Given the description of an element on the screen output the (x, y) to click on. 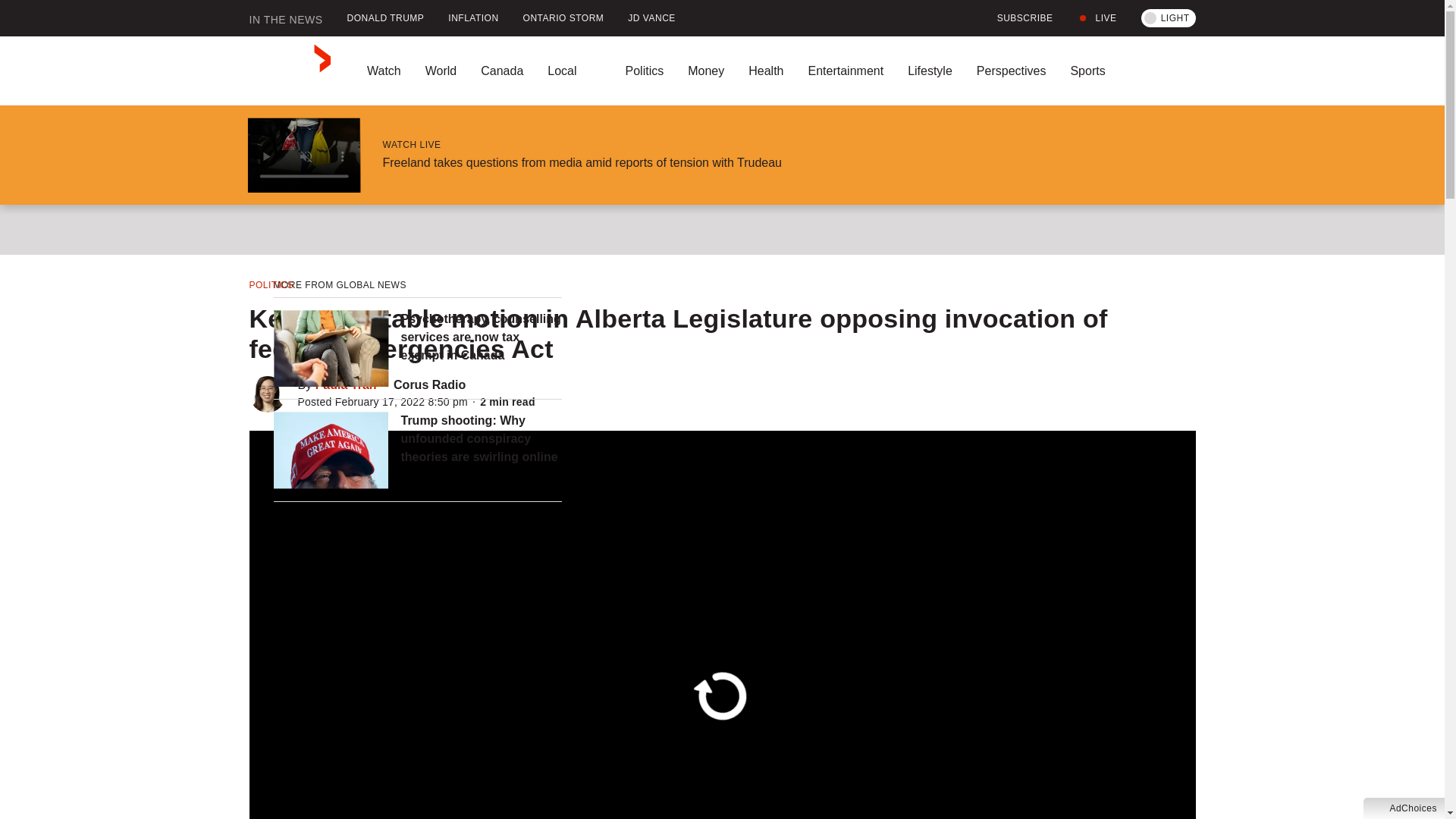
Posts by Paula Tran (346, 384)
Perspectives (1010, 70)
GlobalNews home (289, 70)
ONTARIO STORM (563, 18)
LIVE (1096, 18)
Local (573, 70)
Politics (643, 70)
JD VANCE (651, 18)
INFLATION (473, 18)
DONALD TRUMP (385, 18)
Lifestyle (929, 70)
Click to view article with live video (302, 154)
Canada (501, 70)
Entertainment (844, 70)
